Given the description of an element on the screen output the (x, y) to click on. 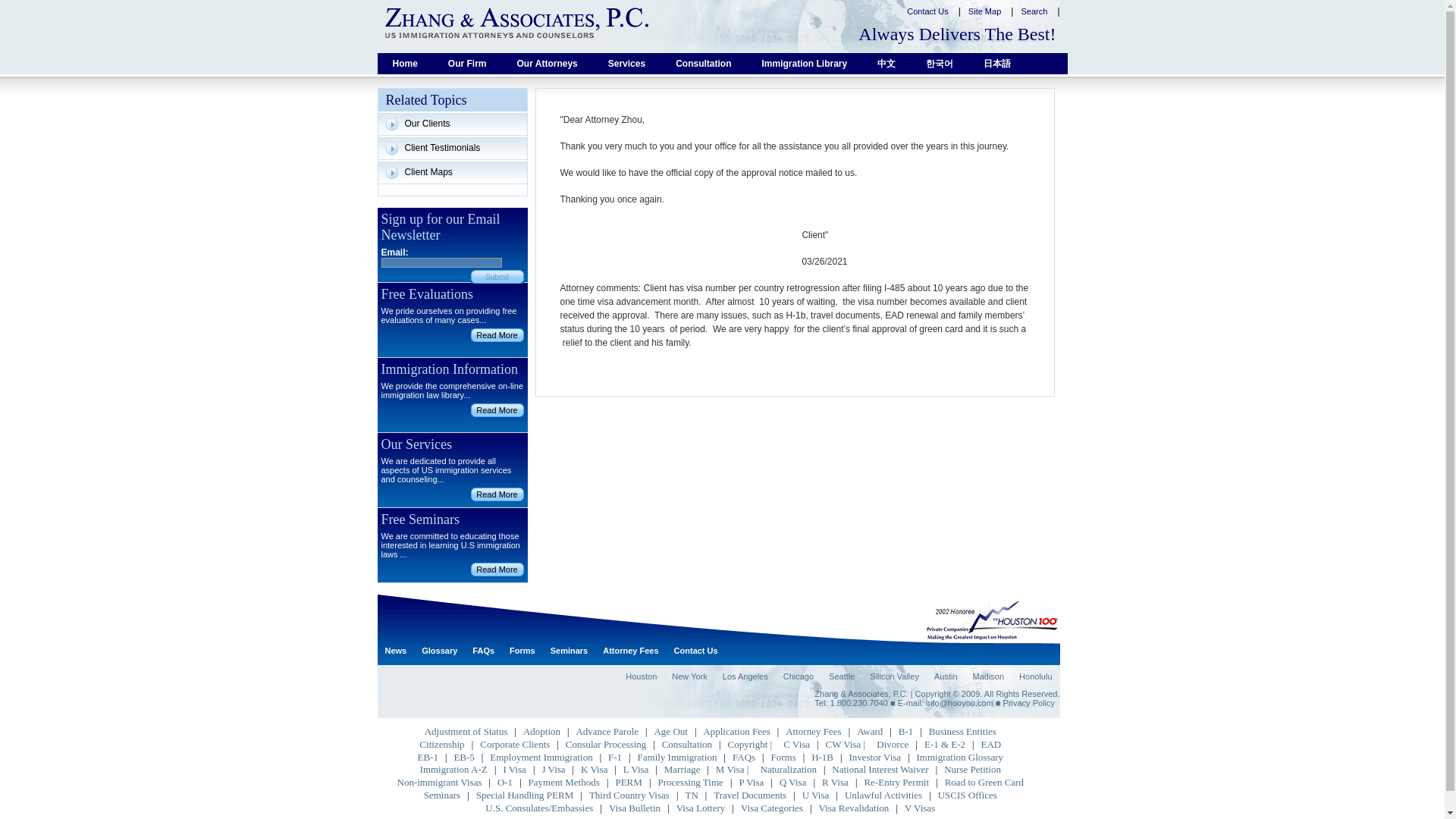
Privacy Policy (1028, 702)
Immigration Attorneys (547, 63)
Silicon Valley (893, 675)
Los Angeles (745, 675)
Read More (496, 494)
Chicago (798, 675)
Read More (496, 335)
Immigration Services (626, 63)
Our Firm (467, 63)
Madison (987, 675)
Read More (496, 569)
Free Evaluations (496, 335)
Chinese Version Immigration Library (886, 63)
Contact Us (695, 650)
Home (404, 63)
